Given the description of an element on the screen output the (x, y) to click on. 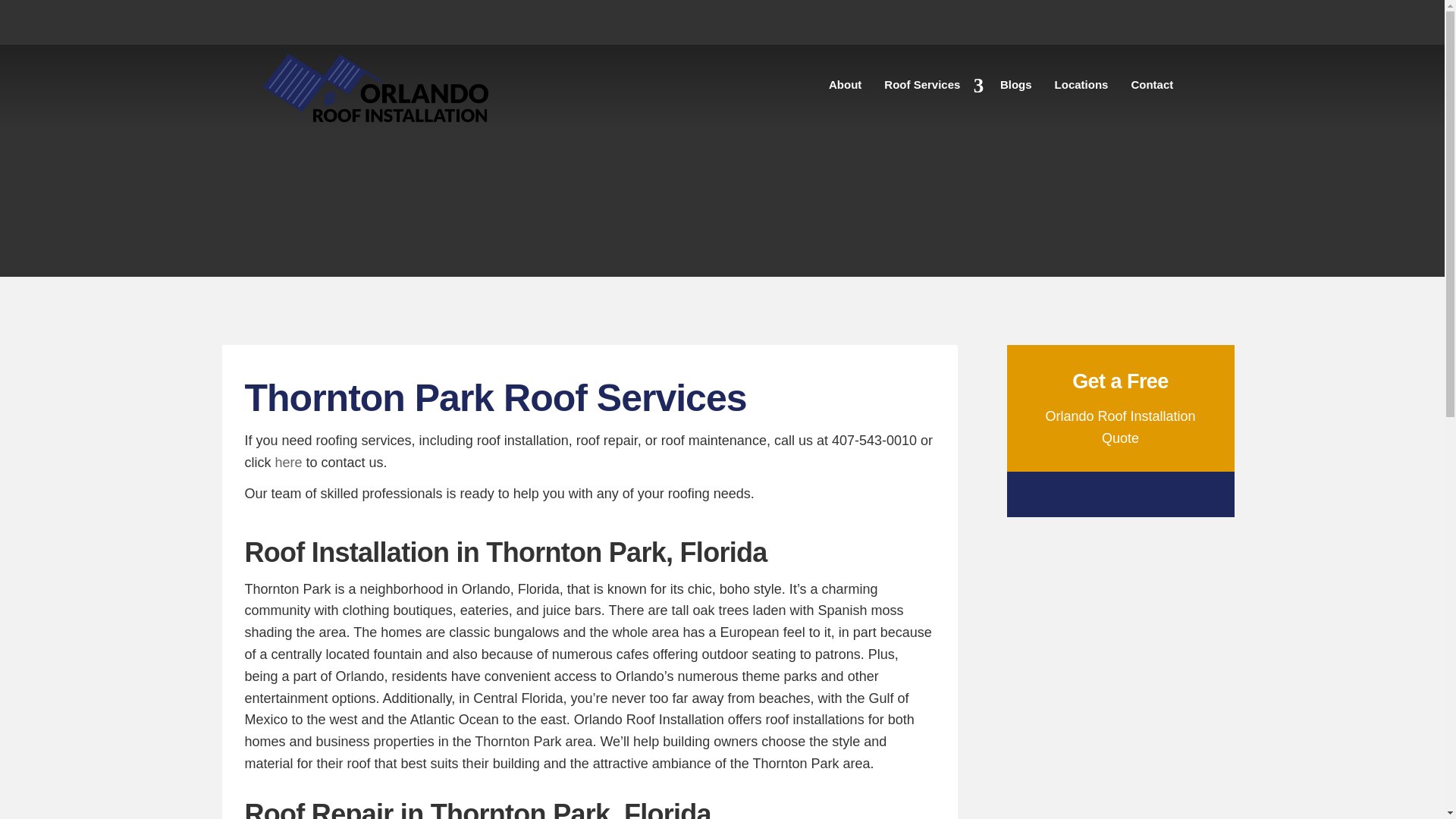
Roof Services (930, 88)
Contact (1152, 88)
About (844, 88)
here (288, 462)
Blogs (1015, 88)
Locations (1081, 88)
